Given the description of an element on the screen output the (x, y) to click on. 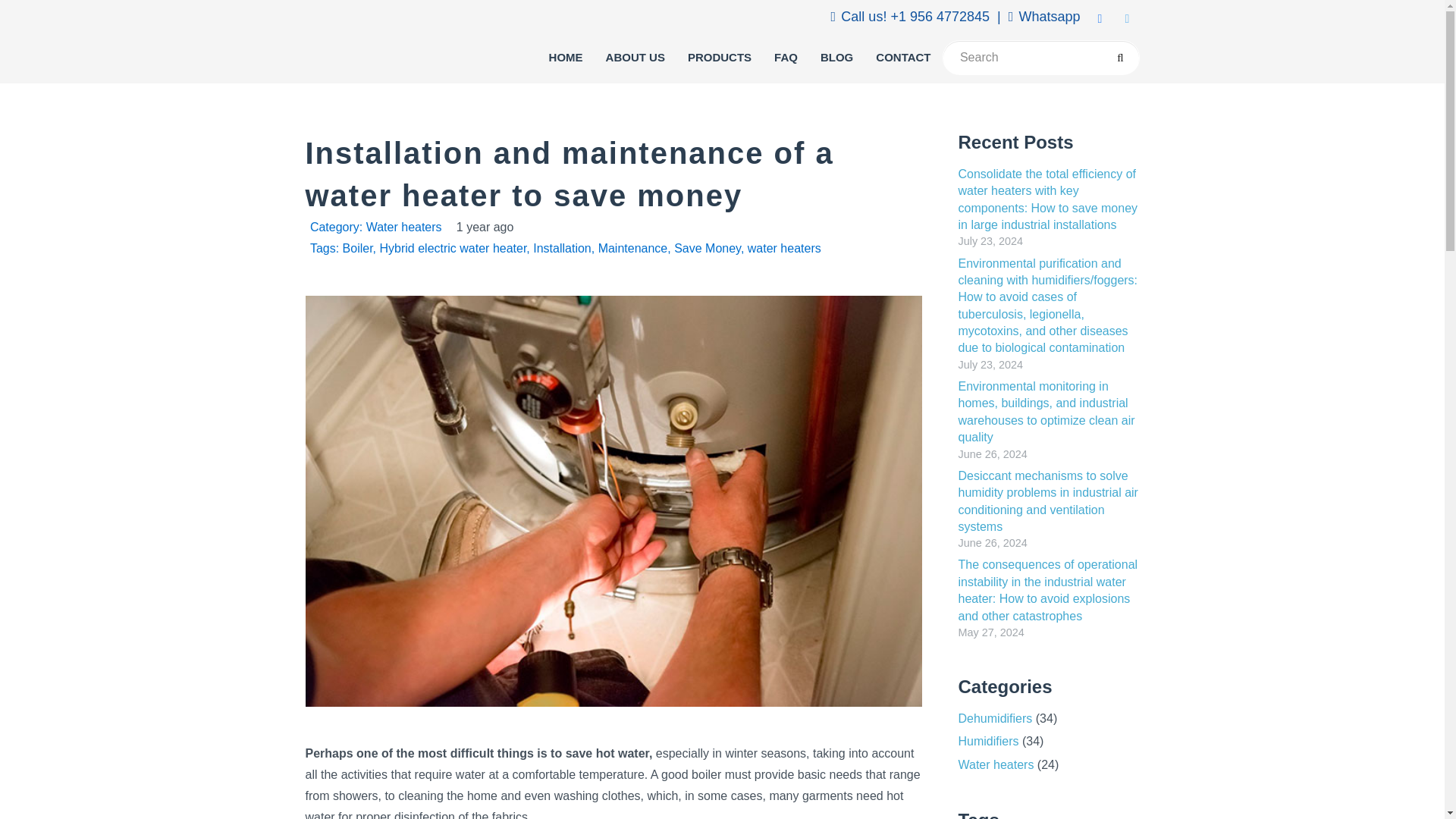
FAQ (785, 57)
PRODUCTS (719, 57)
Whatsapp (1044, 16)
Installation (561, 247)
25 March 2023 at 19:46:42 -05:00 (485, 227)
Save Money (707, 247)
Maintenance (633, 247)
Hybrid electric water heater (451, 247)
